Given the description of an element on the screen output the (x, y) to click on. 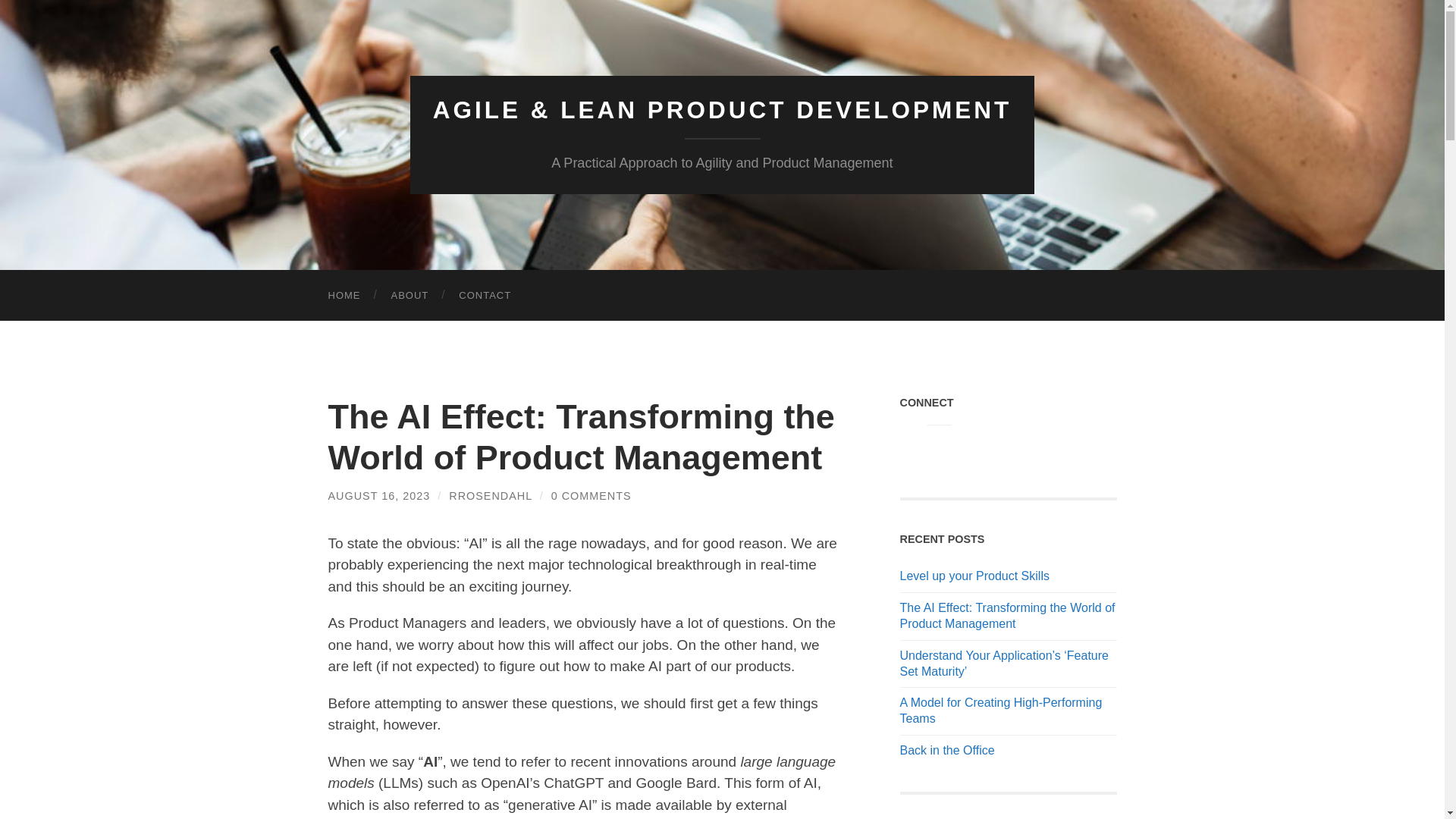
RROSENDAHL (489, 495)
HOME (344, 295)
Back in the Office (1007, 750)
AUGUST 16, 2023 (378, 495)
LinkedIn (911, 445)
The AI Effect: Transforming the World of Product Management (1007, 616)
A Model for Creating High-Performing Teams (1007, 711)
CONTACT (484, 295)
0 COMMENTS (591, 495)
Level up your Product Skills (1007, 576)
